Given the description of an element on the screen output the (x, y) to click on. 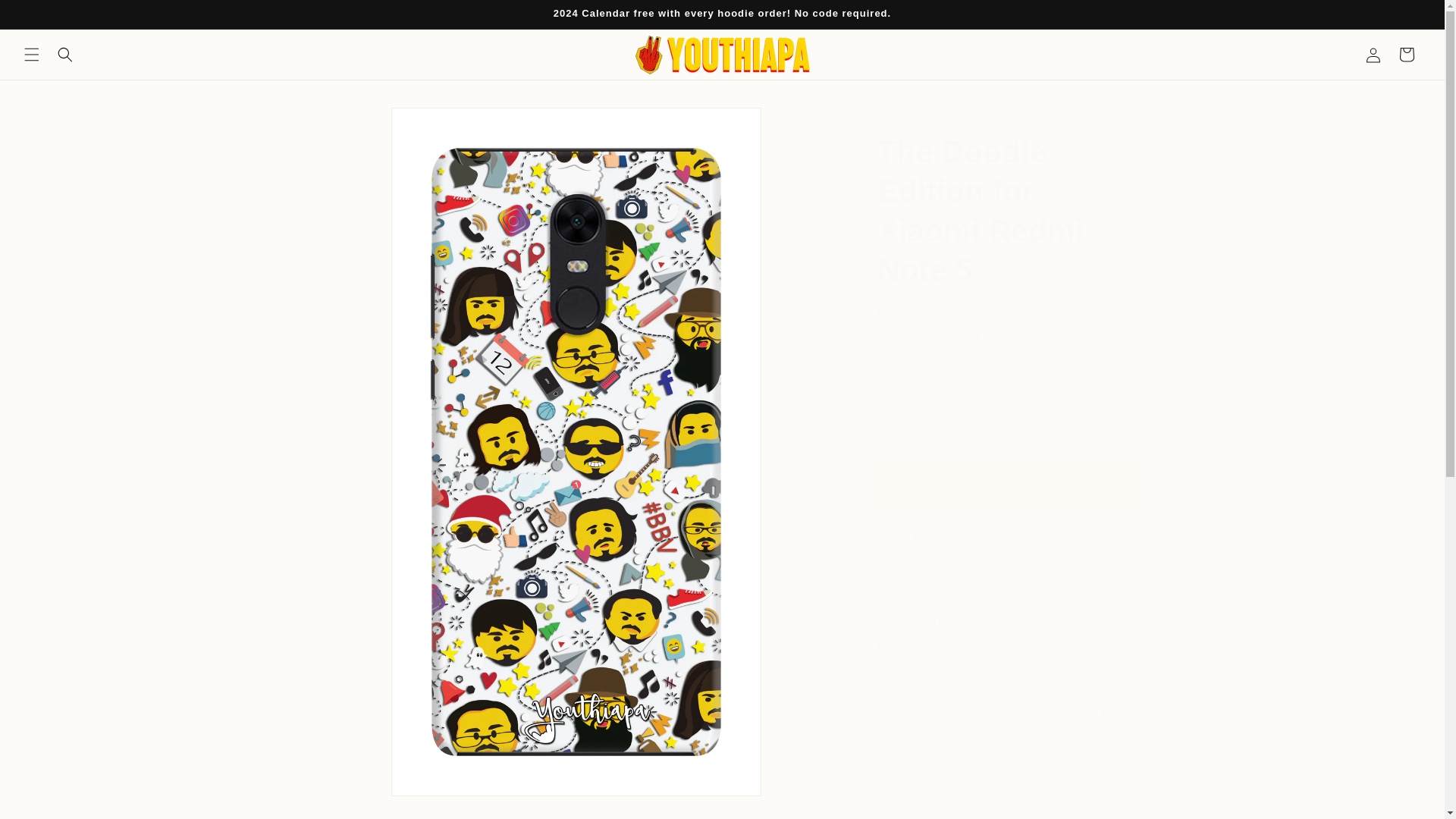
Log in (1373, 54)
1 (931, 389)
Cart (1406, 54)
Skip to content (45, 17)
Skip to product information (350, 124)
